Given the description of an element on the screen output the (x, y) to click on. 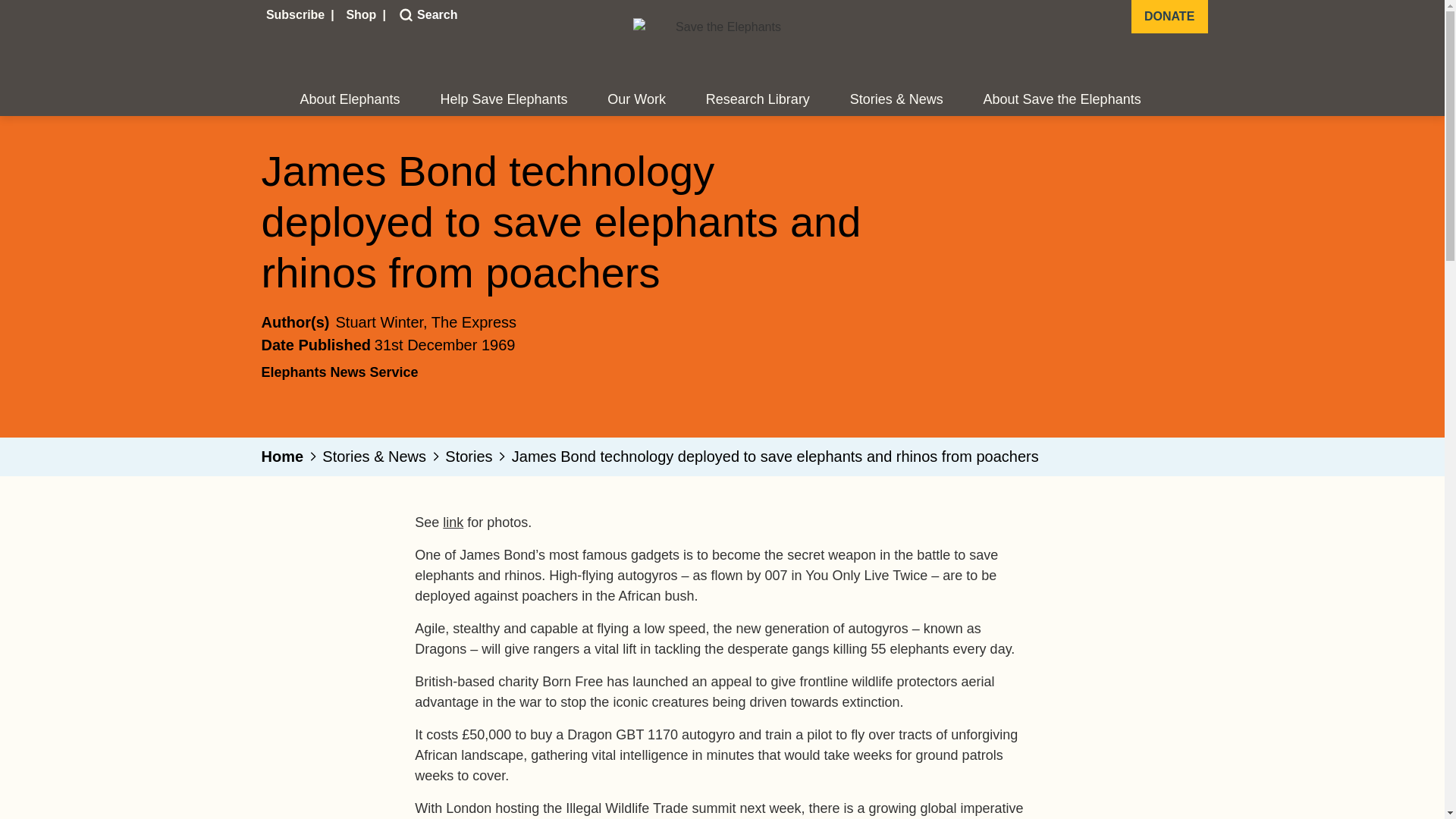
About Save the Elephants (1062, 99)
Save the Elephants (720, 47)
DONATE (1169, 16)
Our Work (636, 99)
Help Save Elephants (503, 99)
Research Library (757, 99)
Shop (362, 15)
Search submit (403, 15)
Subscribe (297, 15)
About Elephants (349, 99)
